Given the description of an element on the screen output the (x, y) to click on. 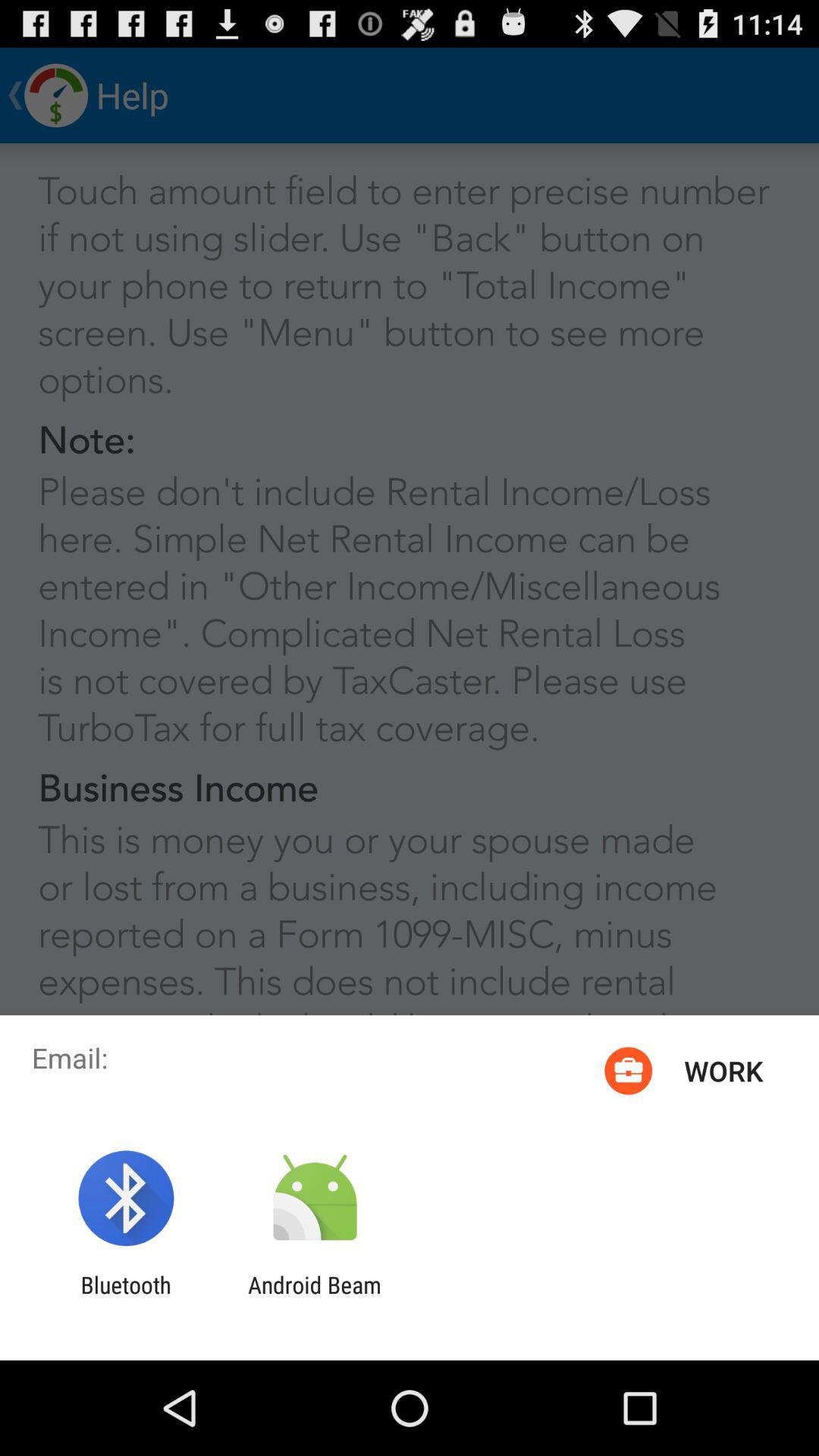
turn off app to the left of android beam (125, 1298)
